Given the description of an element on the screen output the (x, y) to click on. 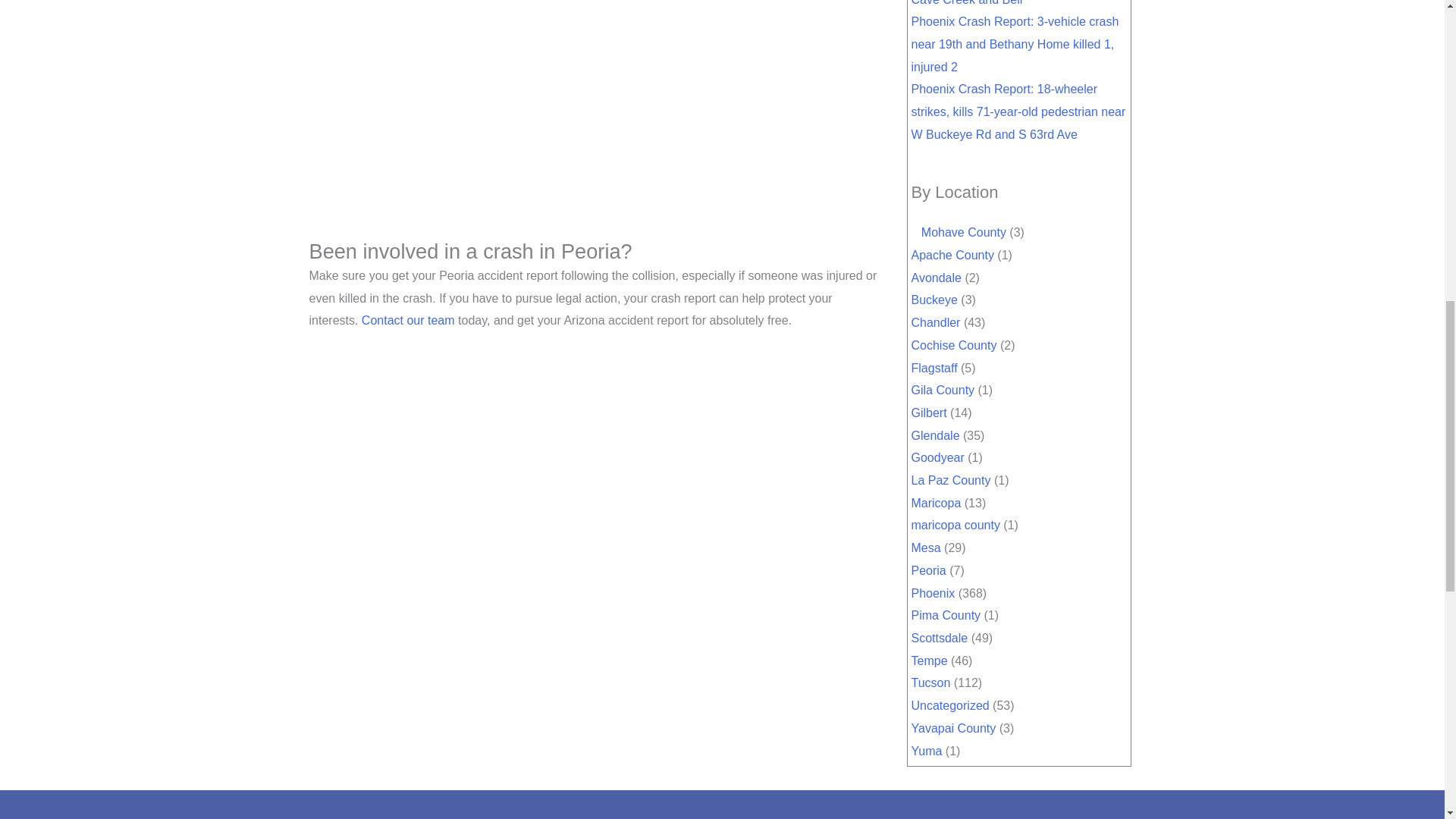
Apache County (952, 254)
Chandler (935, 322)
maricopa county (955, 524)
Gilbert (929, 412)
Flagstaff (934, 367)
Cochise County (954, 345)
Contact our team (407, 319)
